Given the description of an element on the screen output the (x, y) to click on. 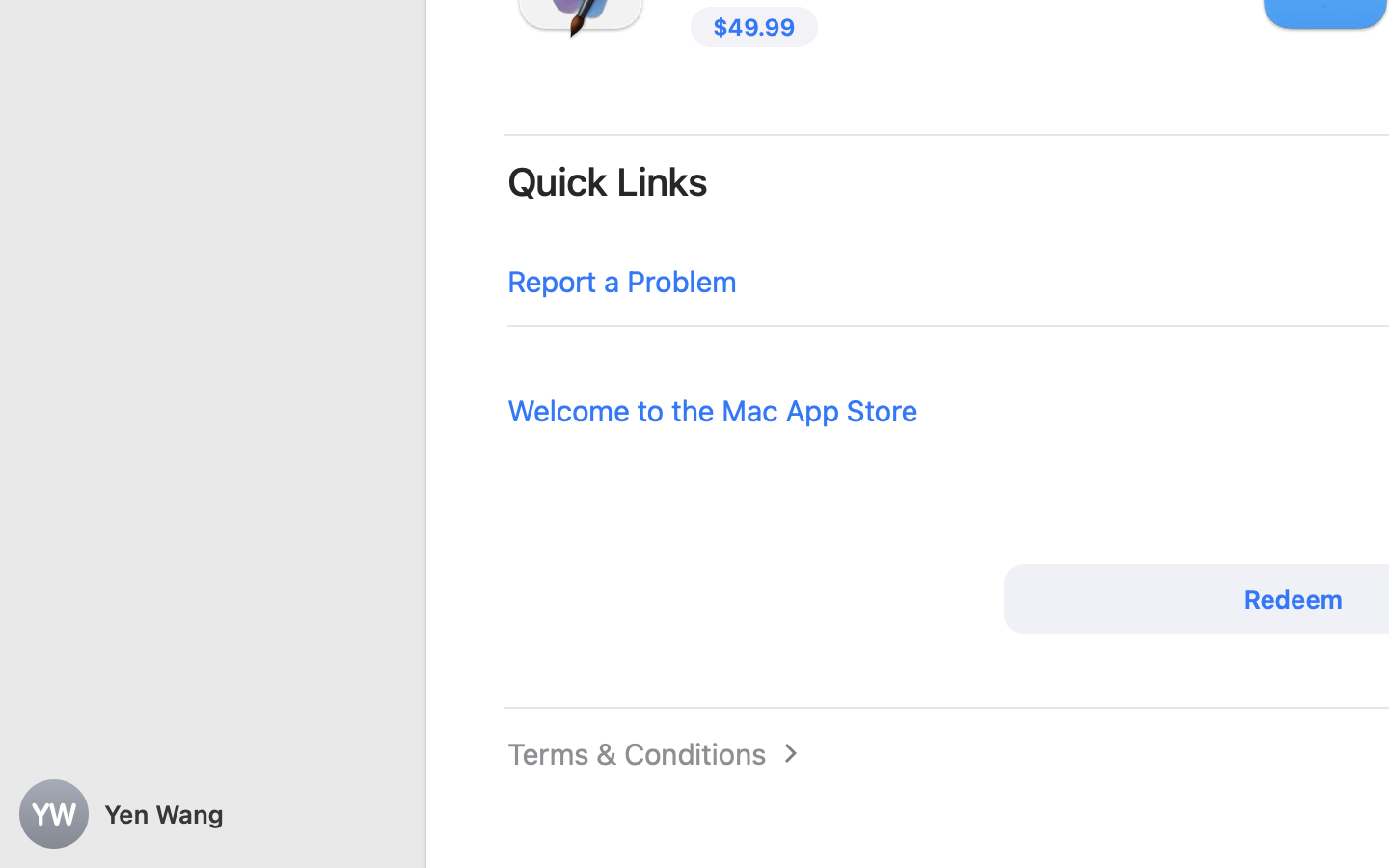
Yen Wang Element type: AXButton (212, 813)
